Given the description of an element on the screen output the (x, y) to click on. 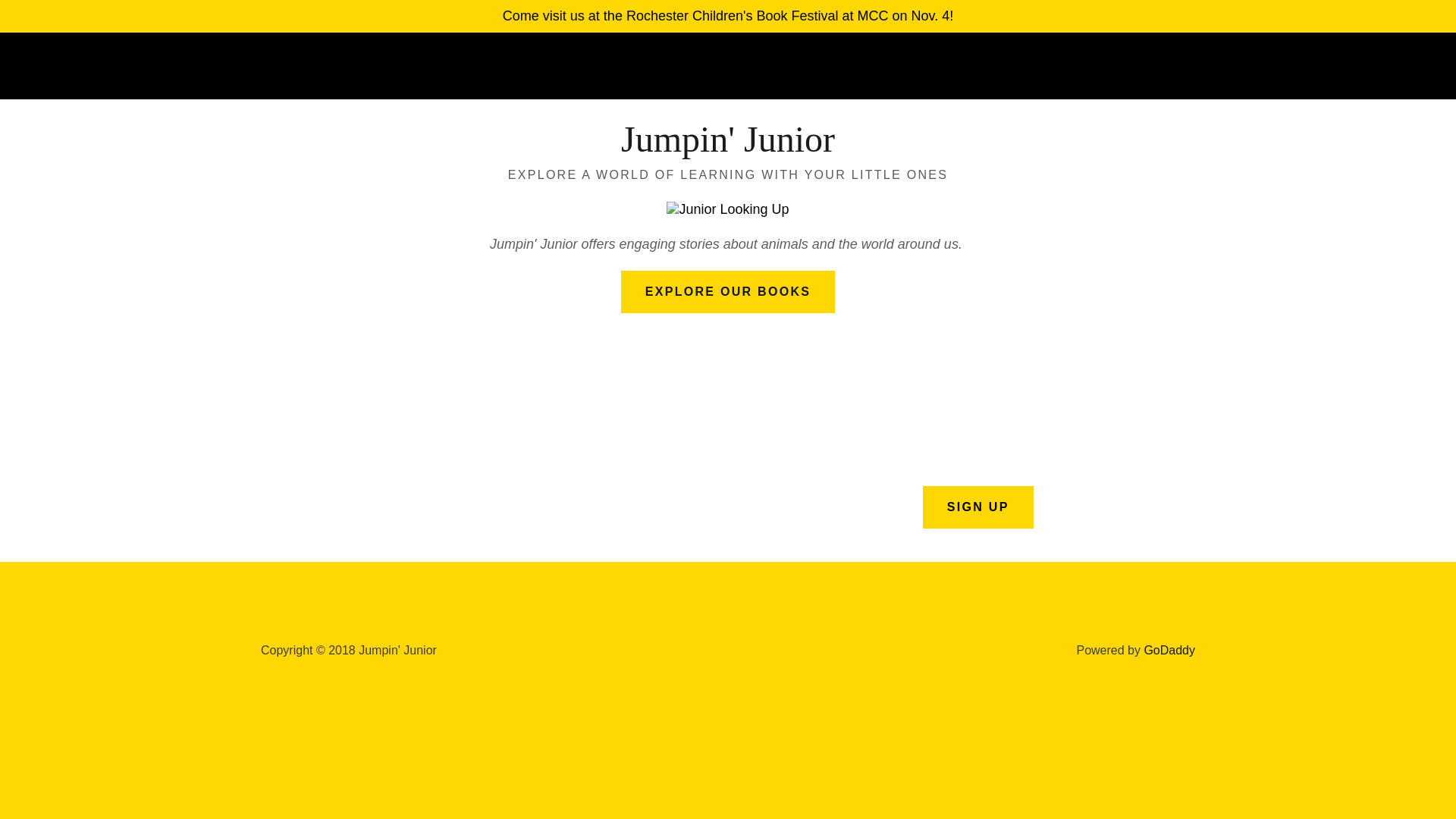
Jumpin' Junior (727, 146)
GoDaddy (1168, 649)
Jumpin' Junior (727, 146)
SIGN UP (978, 507)
EXPLORE OUR BOOKS (727, 291)
